Given the description of an element on the screen output the (x, y) to click on. 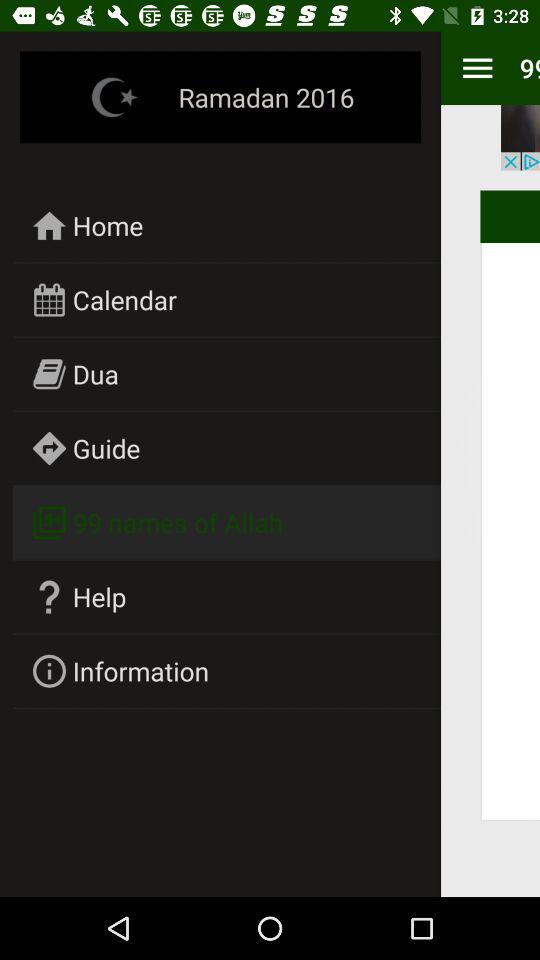
launch the guide icon (106, 448)
